Given the description of an element on the screen output the (x, y) to click on. 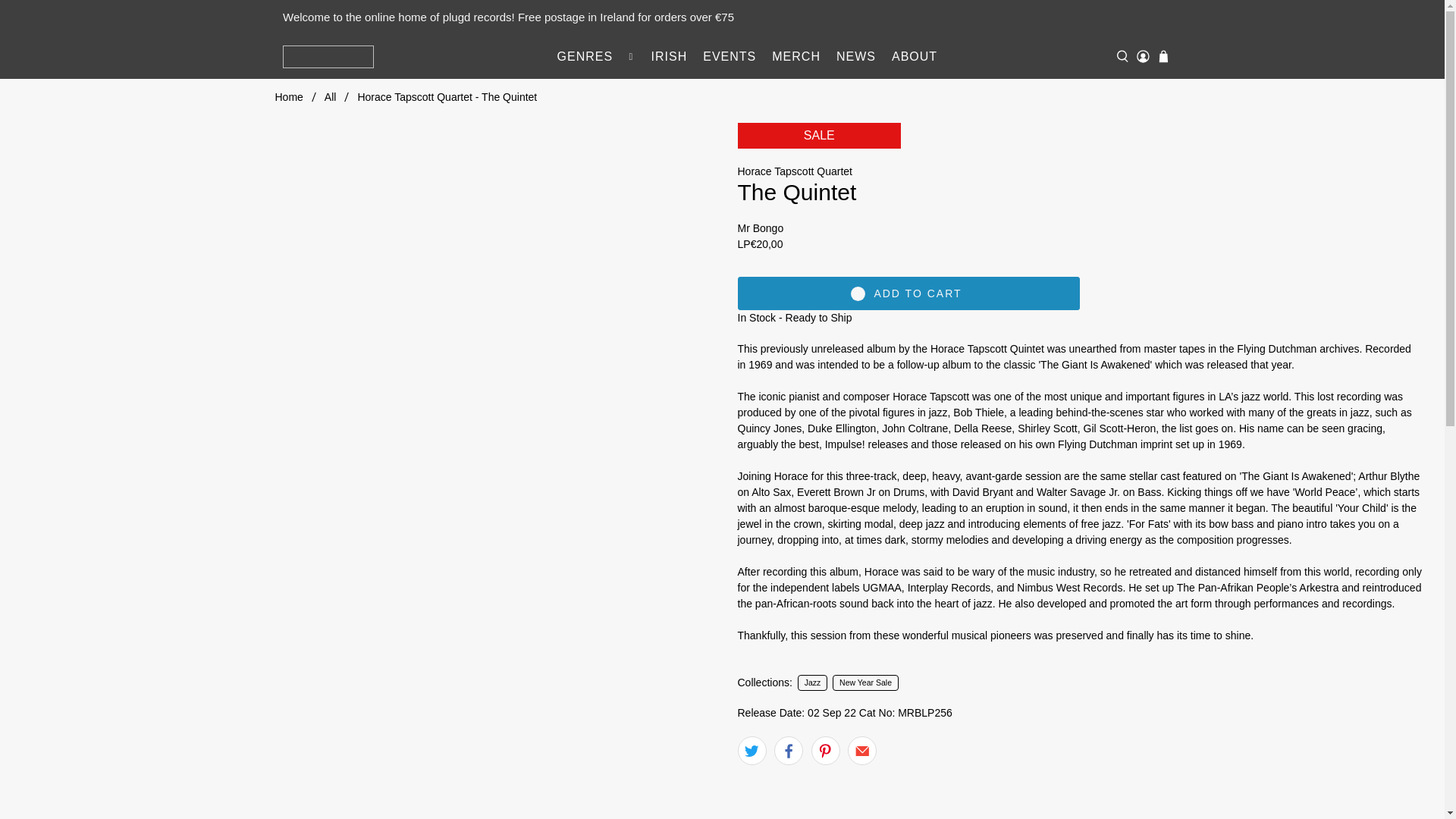
Share this on Facebook (788, 750)
plugd (328, 56)
NEWS (855, 56)
plugd (288, 96)
Jazz (813, 683)
Horace Tapscott Quartet (793, 171)
New Year Sale (865, 683)
ABOUT (913, 56)
Mr Bongo (759, 227)
Share this on Twitter (750, 750)
